Given the description of an element on the screen output the (x, y) to click on. 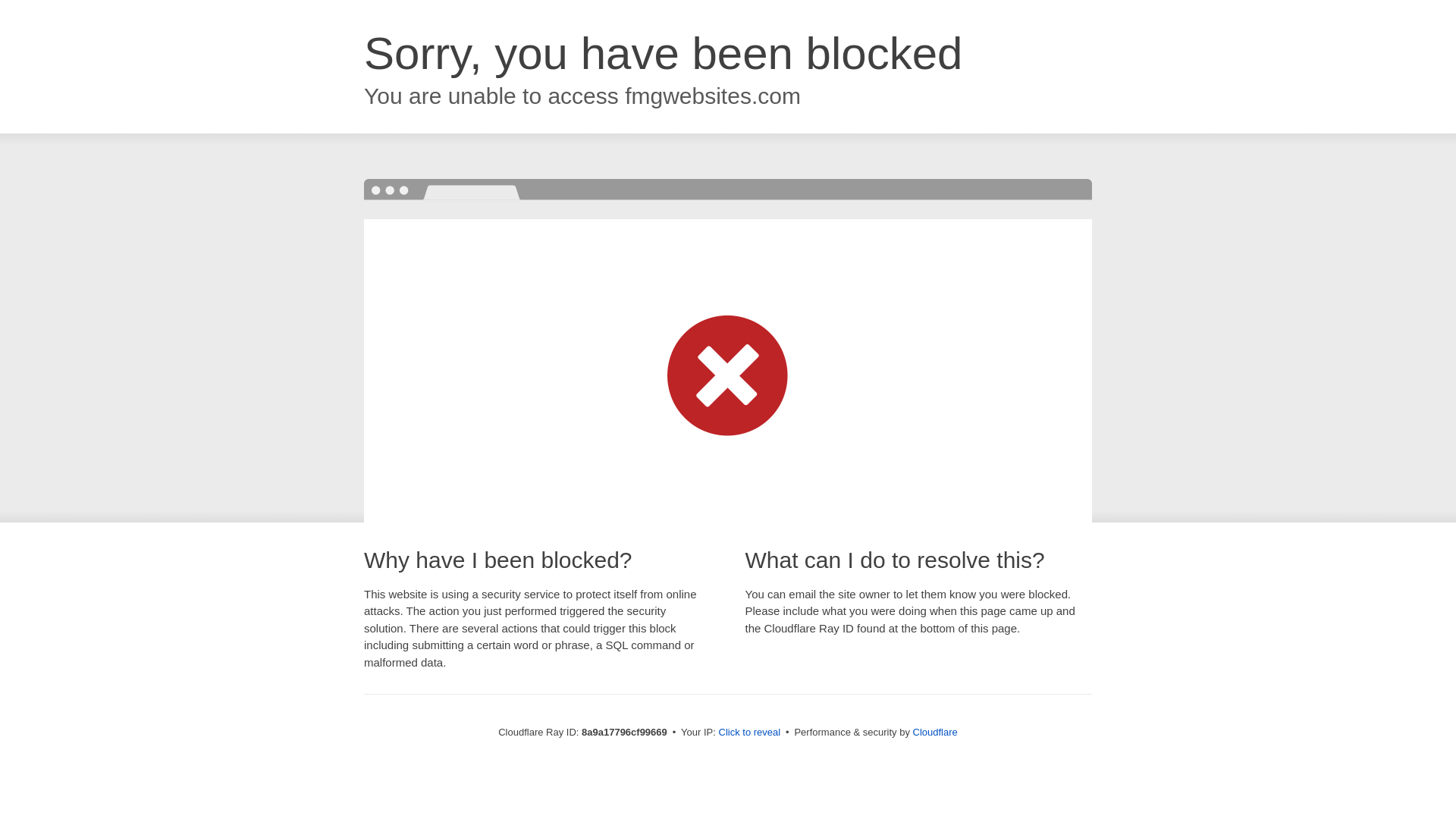
Cloudflare (935, 731)
Click to reveal (749, 732)
